Given the description of an element on the screen output the (x, y) to click on. 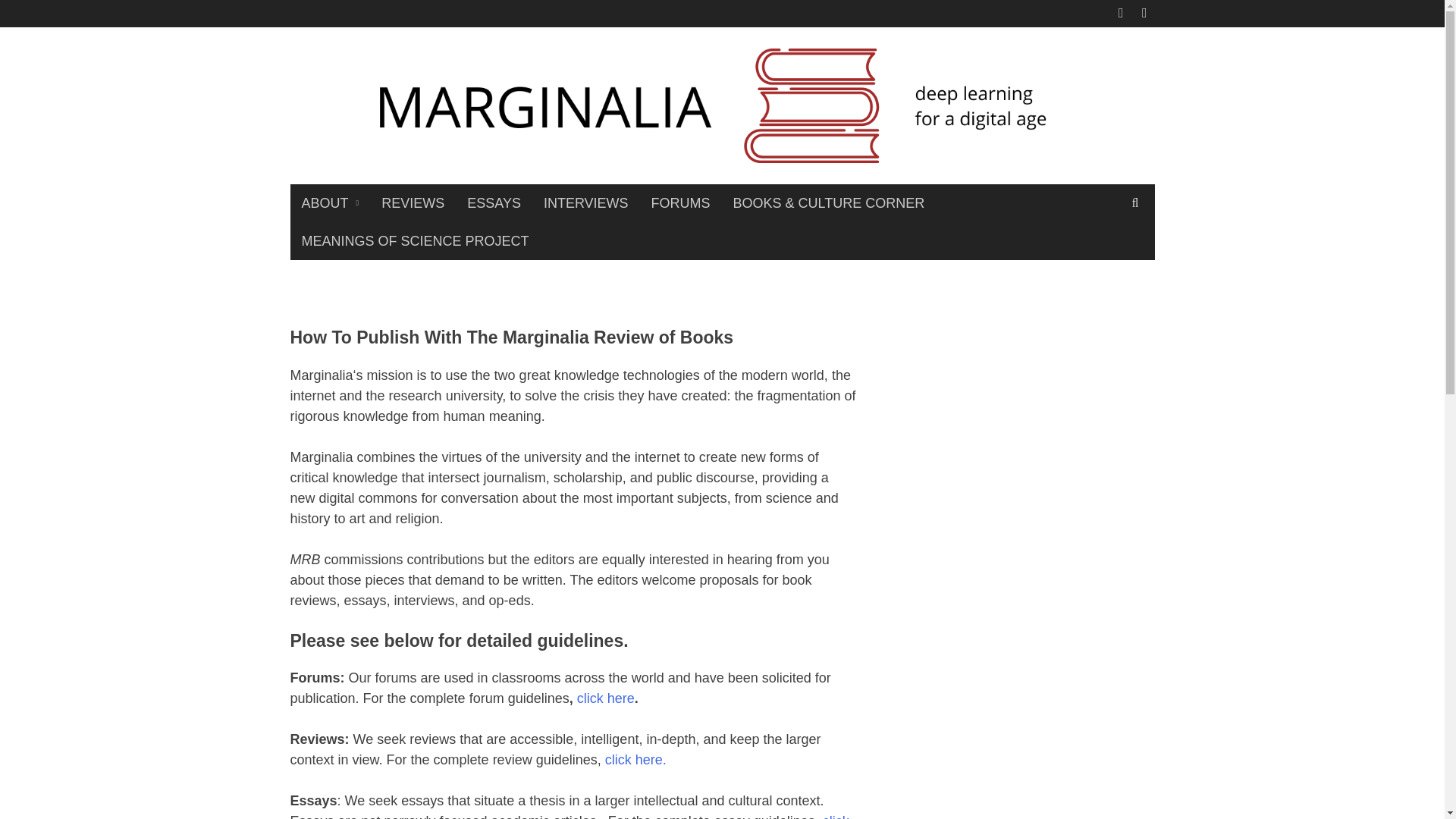
click here (605, 698)
click here. (635, 759)
ESSAYS (493, 202)
REVIEWS (412, 202)
MEANINGS OF SCIENCE PROJECT (414, 240)
FORUMS (681, 202)
INTERVIEWS (586, 202)
ABOUT (329, 202)
